Given the description of an element on the screen output the (x, y) to click on. 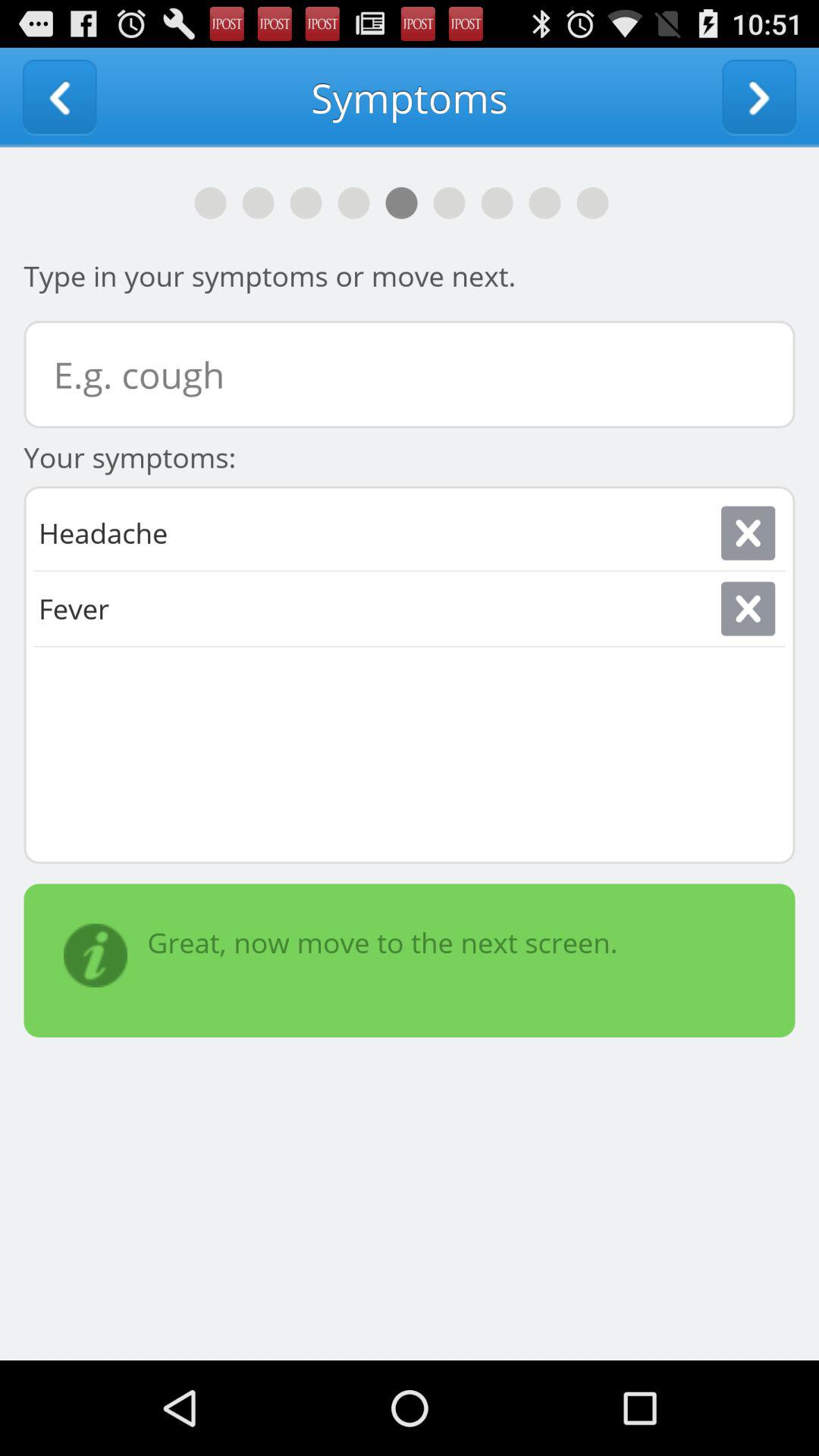
remove item (748, 608)
